Given the description of an element on the screen output the (x, y) to click on. 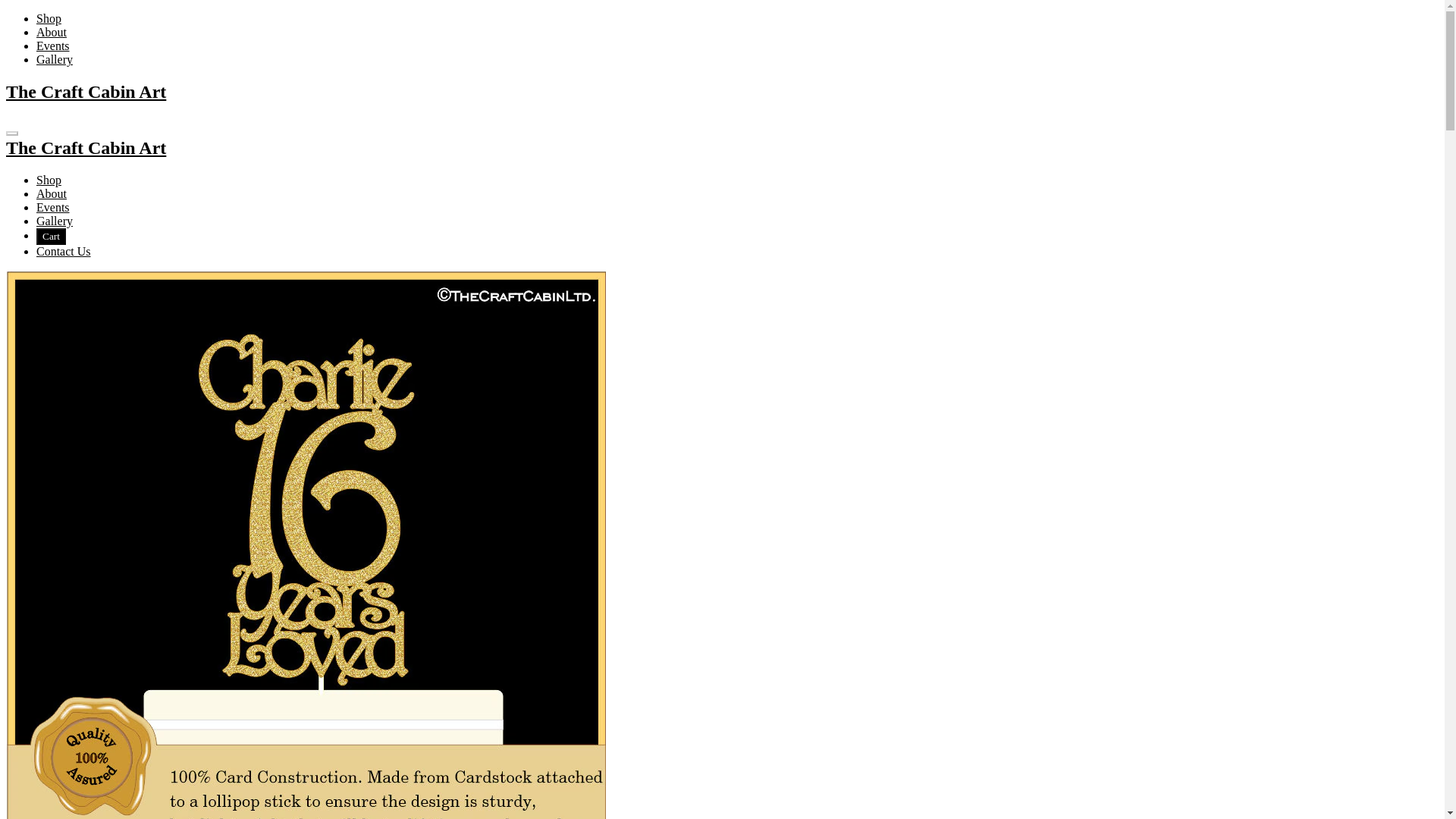
Events (52, 45)
About (51, 31)
Cart (50, 236)
Events (52, 206)
Shop (48, 179)
Contact Us (63, 250)
Gallery (54, 59)
About (51, 193)
Shop (48, 18)
Gallery (54, 220)
